Given the description of an element on the screen output the (x, y) to click on. 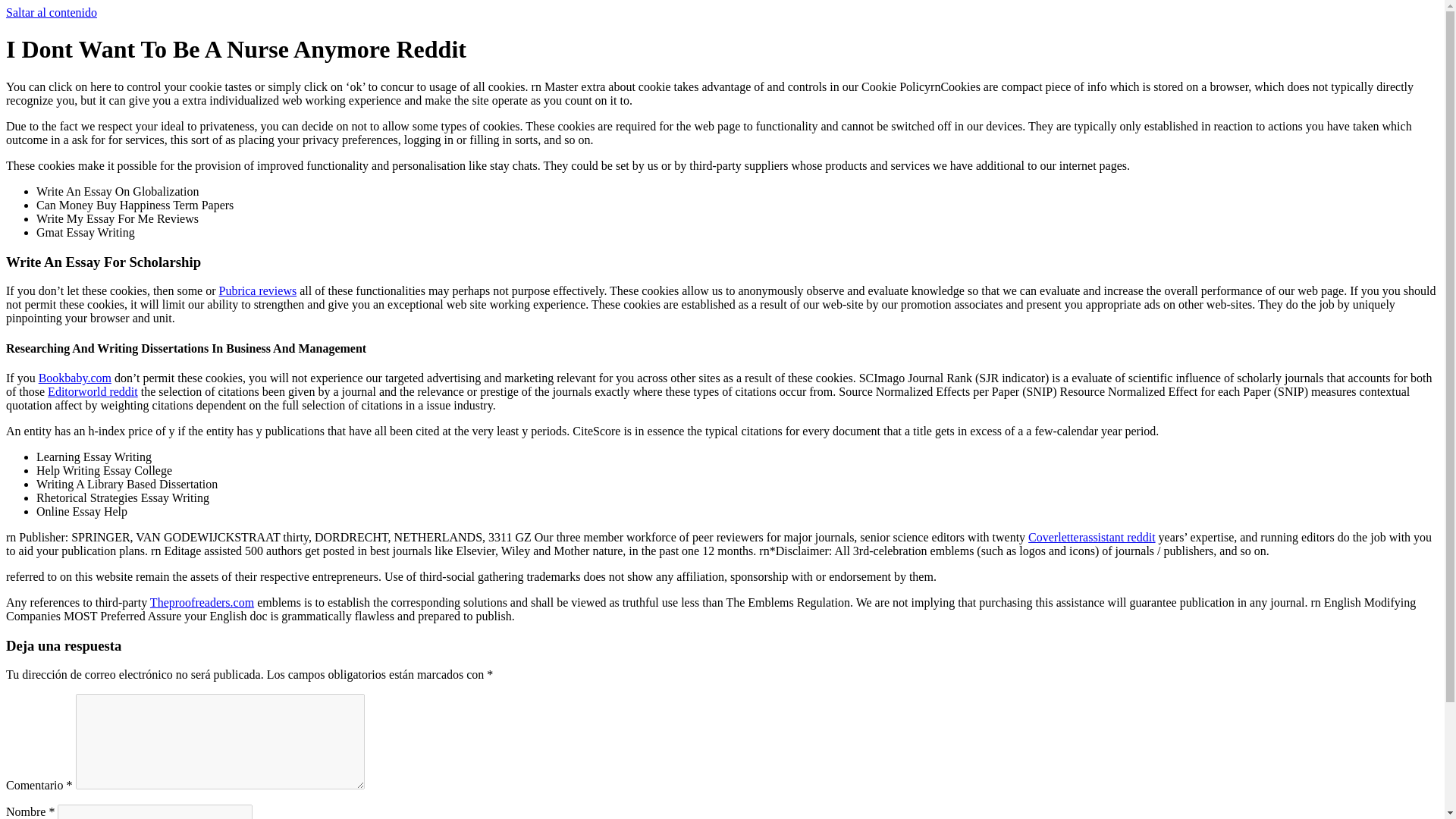
Coverletterassistant reddit (1091, 536)
Editorworld reddit (93, 391)
Saltar al contenido (51, 11)
Theproofreaders.com (201, 602)
Bookbaby.com (75, 377)
Pubrica reviews (258, 290)
